Given the description of an element on the screen output the (x, y) to click on. 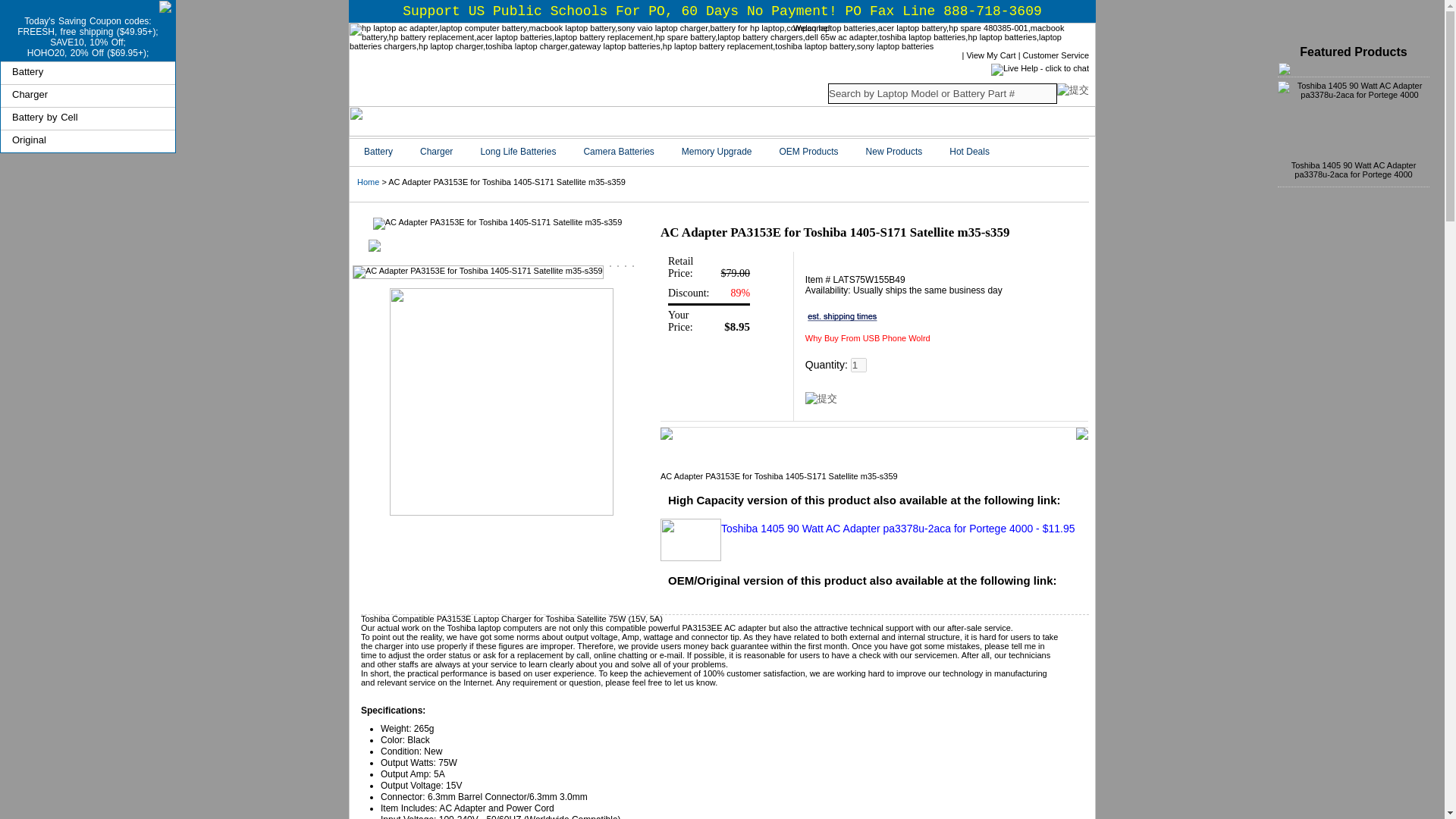
Original (28, 139)
View My Cart (990, 54)
1 (858, 364)
Battery by Cell (44, 116)
Customer Service (1056, 54)
Battery (27, 71)
Battery (378, 153)
Charger (29, 93)
AC Adapter PA3153E for Toshiba 1405-S171 Satellite m35-s359 (478, 272)
AC Adapter PA3153E for Toshiba 1405-S171 Satellite m35-s359 (497, 223)
